Given the description of an element on the screen output the (x, y) to click on. 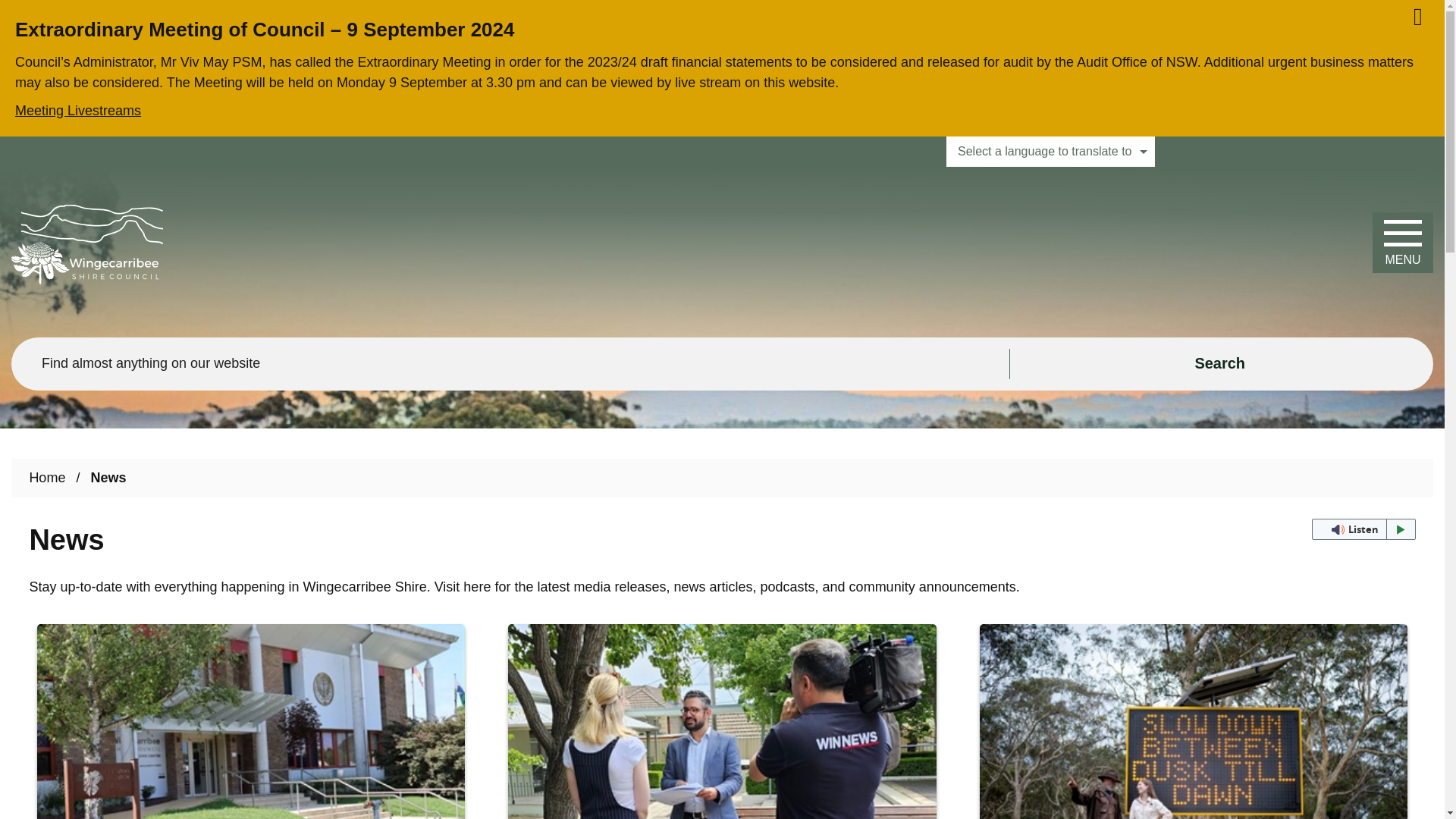
Meeting Livestreams (721, 107)
Search (1220, 363)
MENU (1402, 242)
Wingecarribee Shire Council - Home - Logo (87, 244)
Search (1220, 363)
Select a language to translate to (1050, 151)
